Given the description of an element on the screen output the (x, y) to click on. 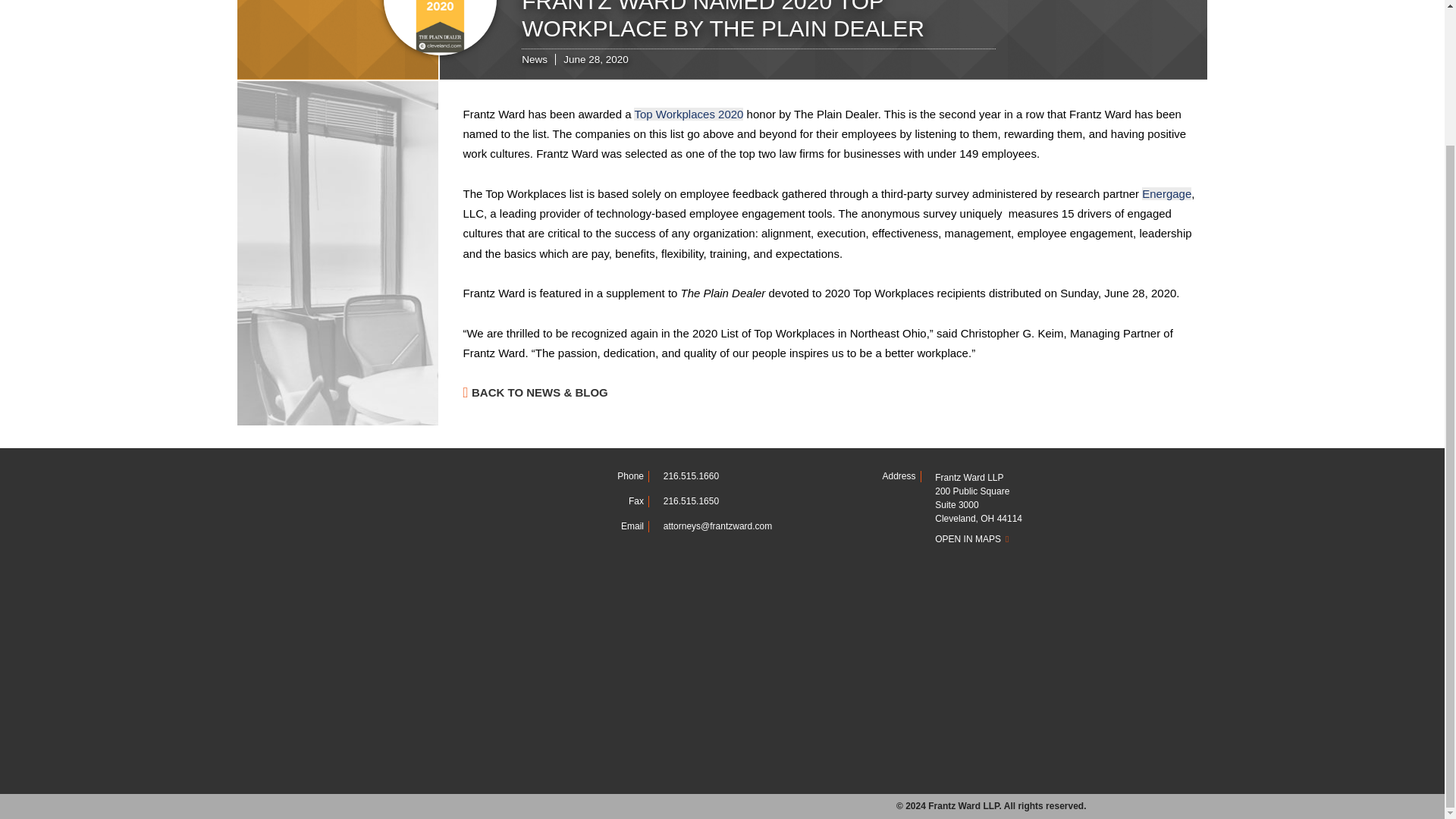
Energage (1166, 193)
216.515.1660 (691, 475)
OPEN IN MAPS (1010, 539)
Top Workplaces 2020 (687, 113)
216.515.1650 (691, 501)
